Given the description of an element on the screen output the (x, y) to click on. 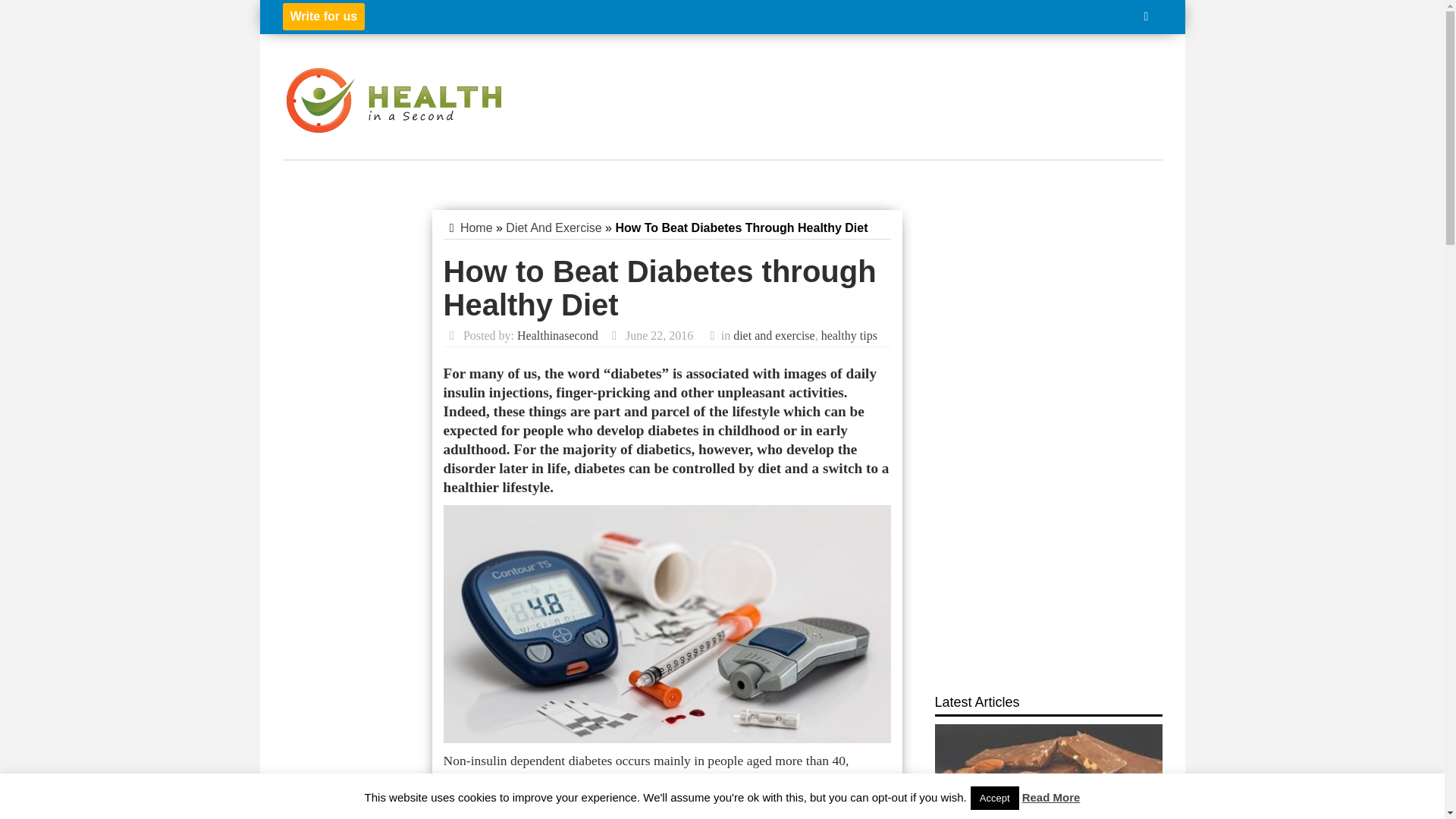
Health In a Second (393, 98)
Diet And Exercise (553, 227)
Home (476, 227)
Write for us (323, 16)
healthy tips (849, 335)
Healthinasecond (557, 335)
diet and exercise (774, 335)
